Given the description of an element on the screen output the (x, y) to click on. 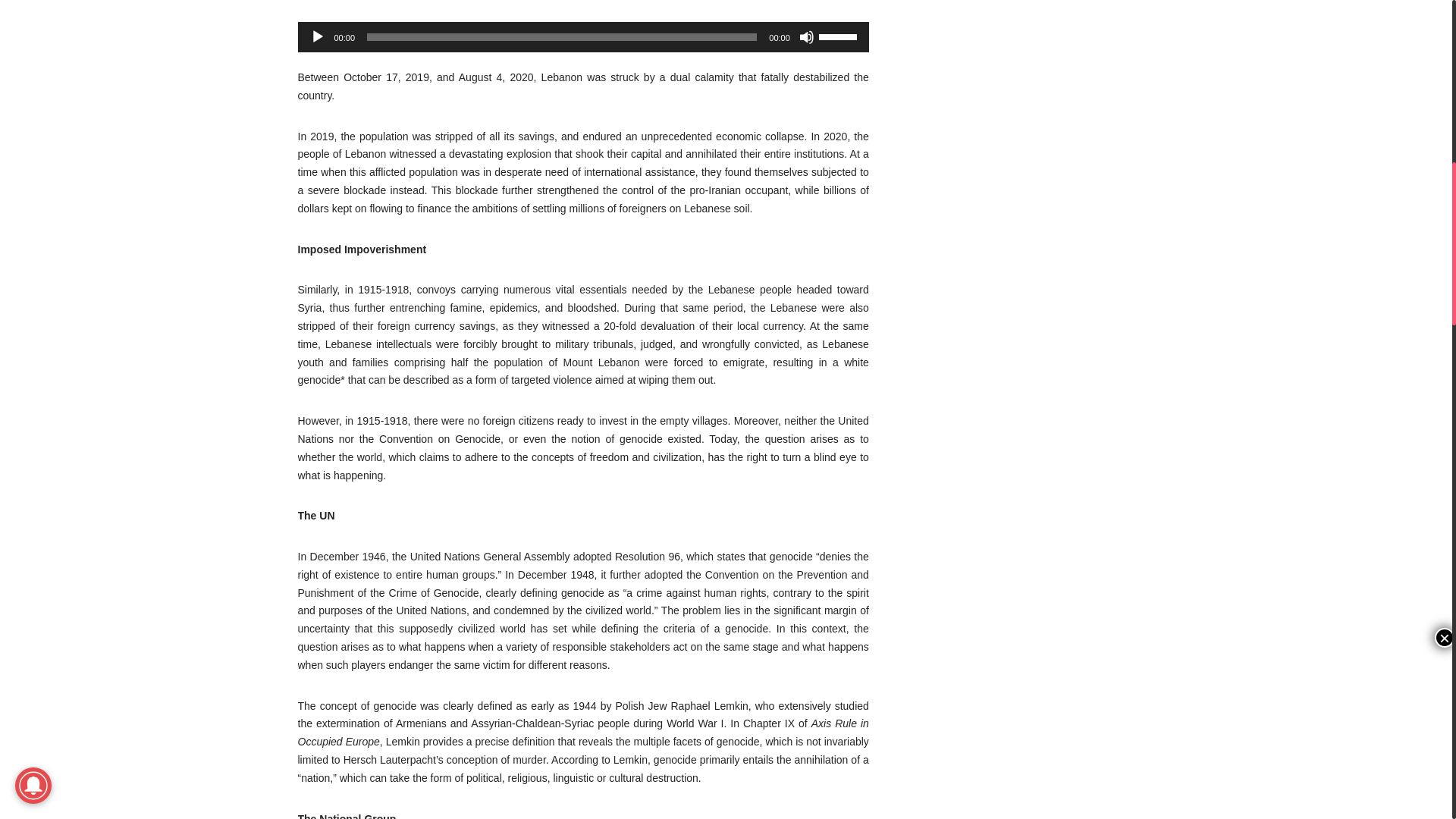
Play (316, 37)
Mute (806, 37)
